Given the description of an element on the screen output the (x, y) to click on. 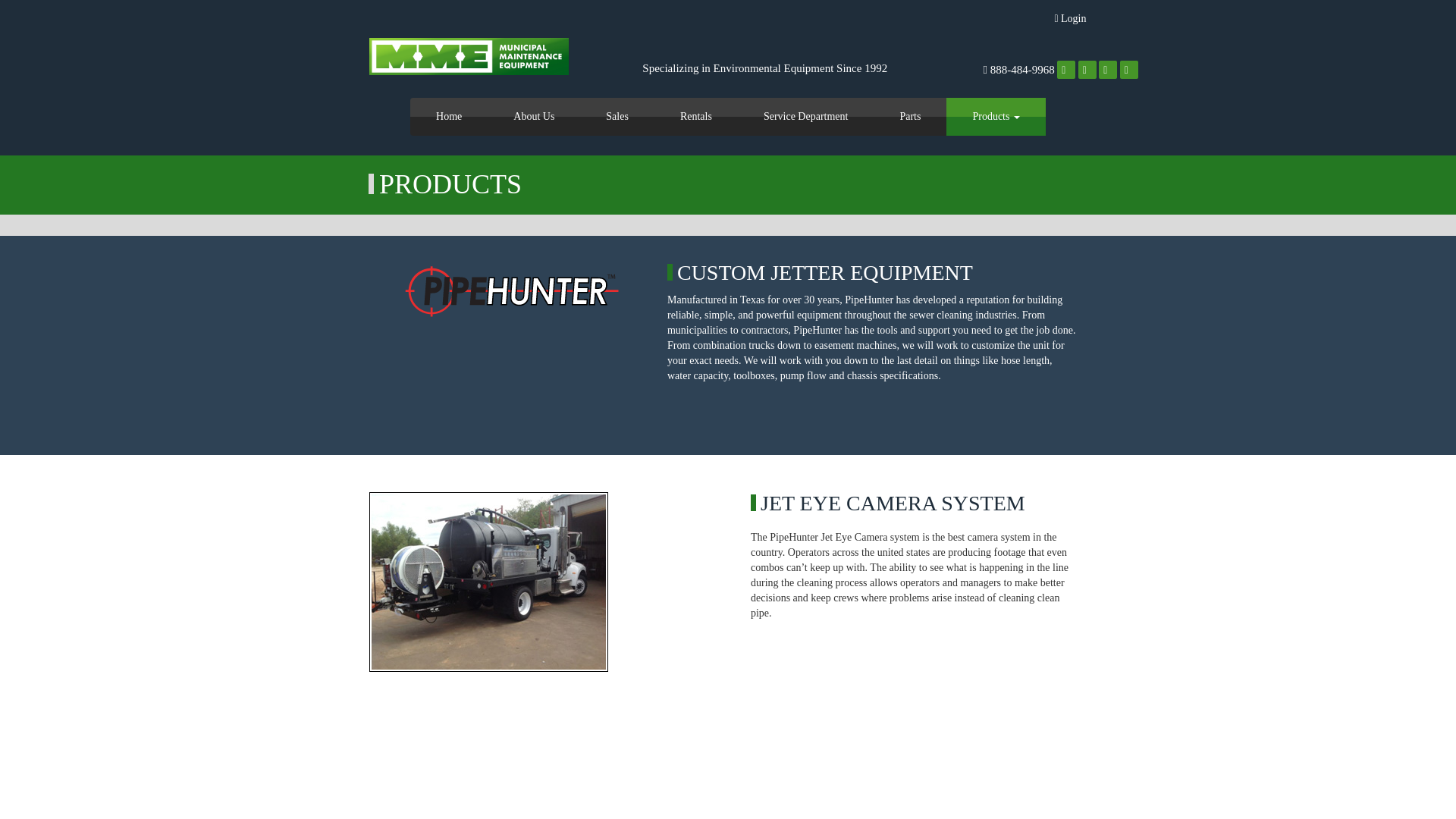
Sales (616, 116)
Login (1070, 18)
About Us (533, 116)
Parts (909, 116)
Products (995, 116)
Home (448, 116)
Rentals (695, 116)
Service Department (806, 116)
